Given the description of an element on the screen output the (x, y) to click on. 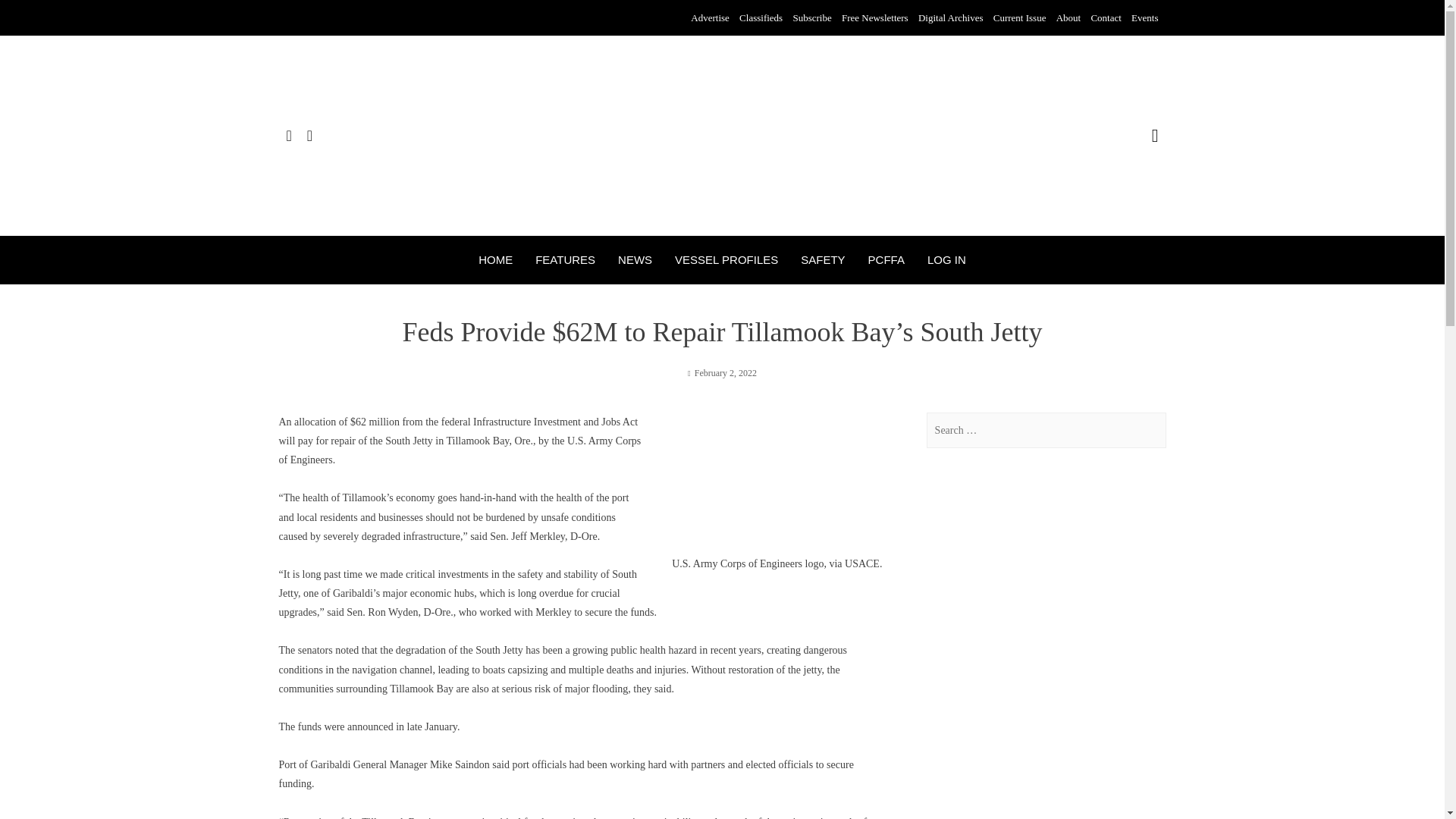
PCFFA (885, 259)
Free Newsletters (874, 17)
Classifieds (761, 17)
Advertise (709, 17)
Contact (1105, 17)
Subscribe (811, 17)
Search (29, 17)
NEWS (634, 259)
About (1069, 17)
VESSEL PROFILES (726, 259)
